Given the description of an element on the screen output the (x, y) to click on. 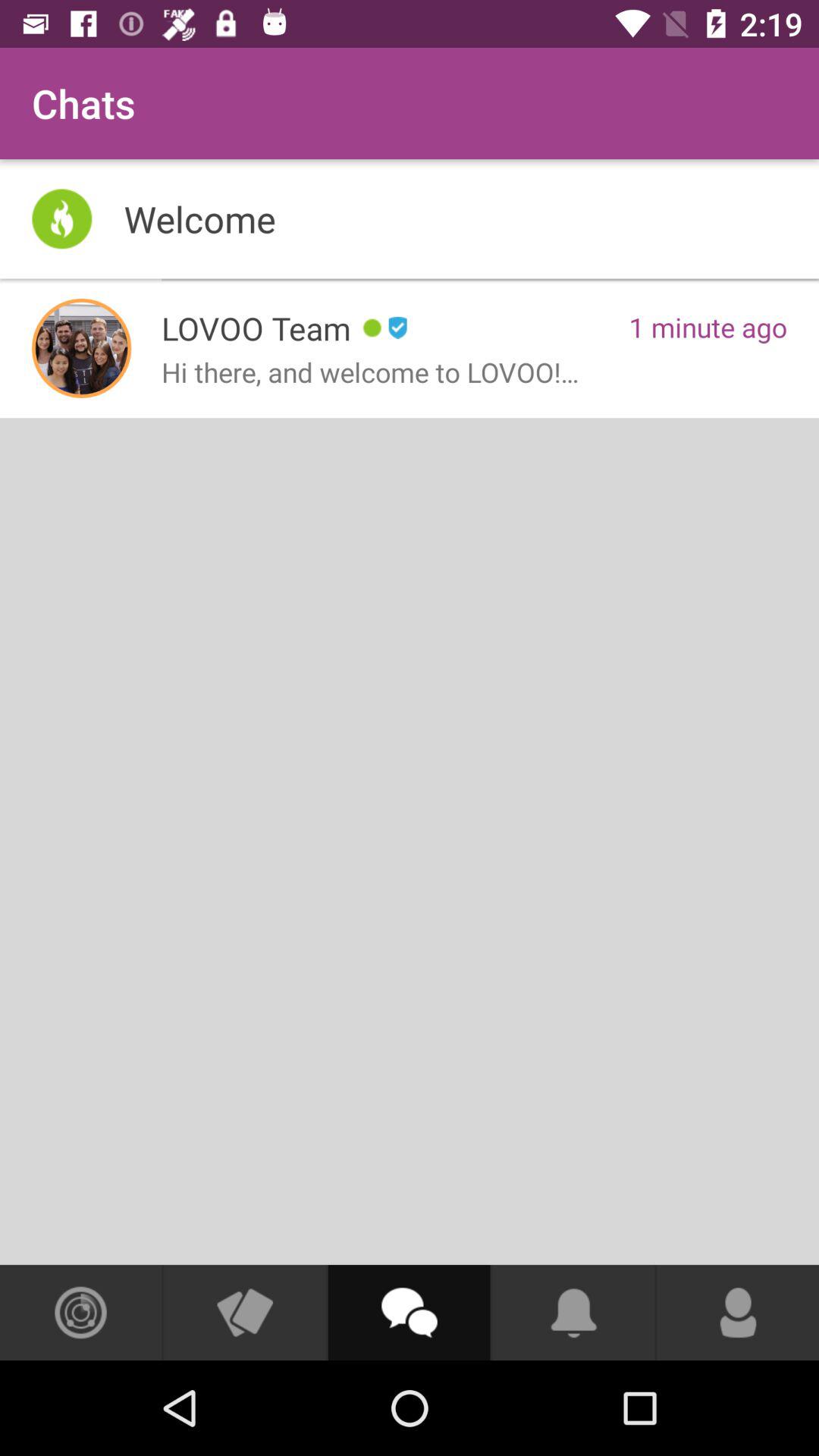
tap item next to the lovoo team (81, 348)
